Given the description of an element on the screen output the (x, y) to click on. 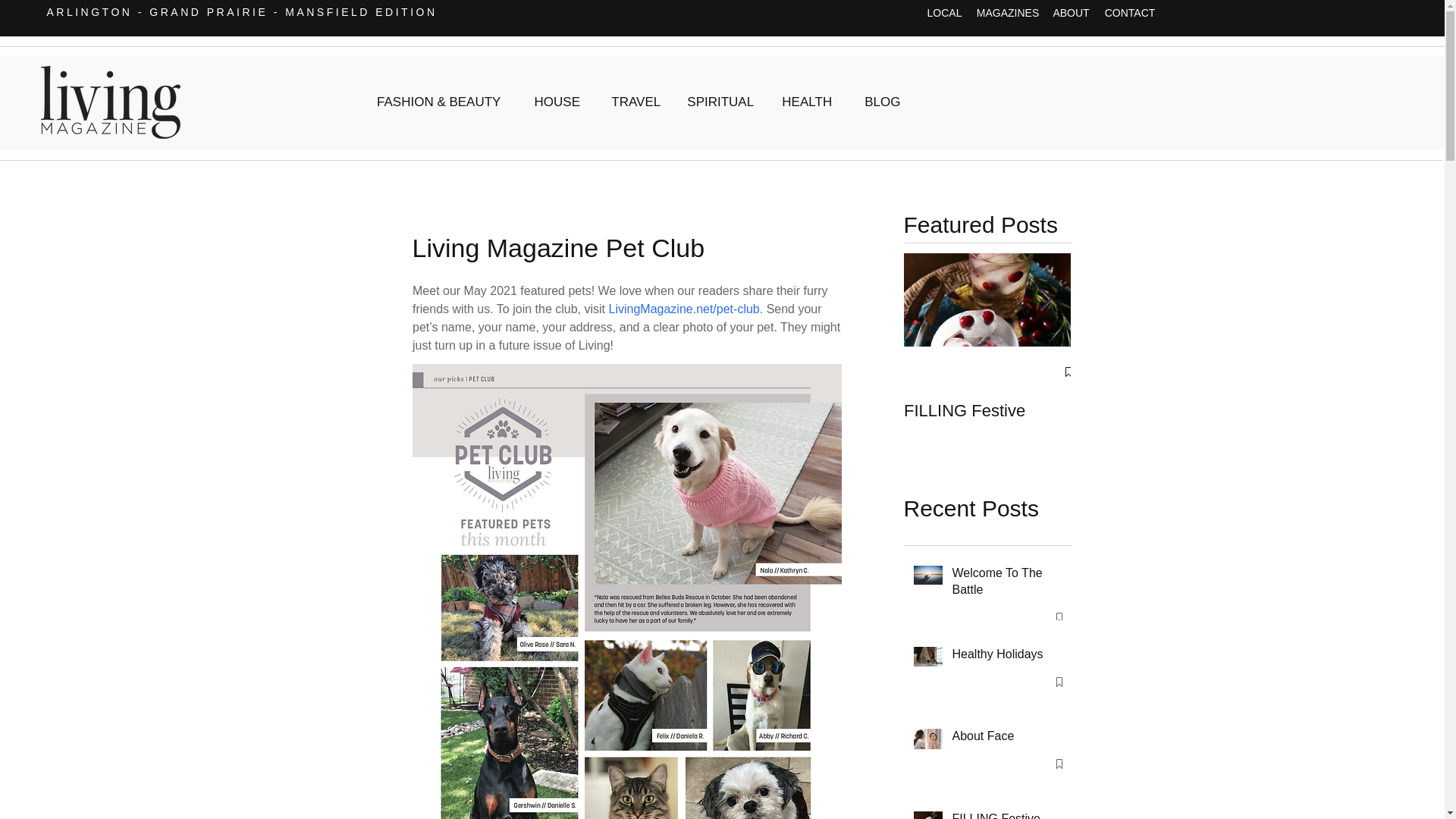
Healthy Holidays (1006, 657)
ABOUT (1071, 13)
About Face (1006, 739)
CONTACT (1129, 13)
HEALTH (807, 102)
ARLINGTON (89, 11)
SPIRITUAL (720, 102)
MAGAZINES (1007, 13)
LOCAL (944, 13)
HOUSE (556, 102)
